Given the description of an element on the screen output the (x, y) to click on. 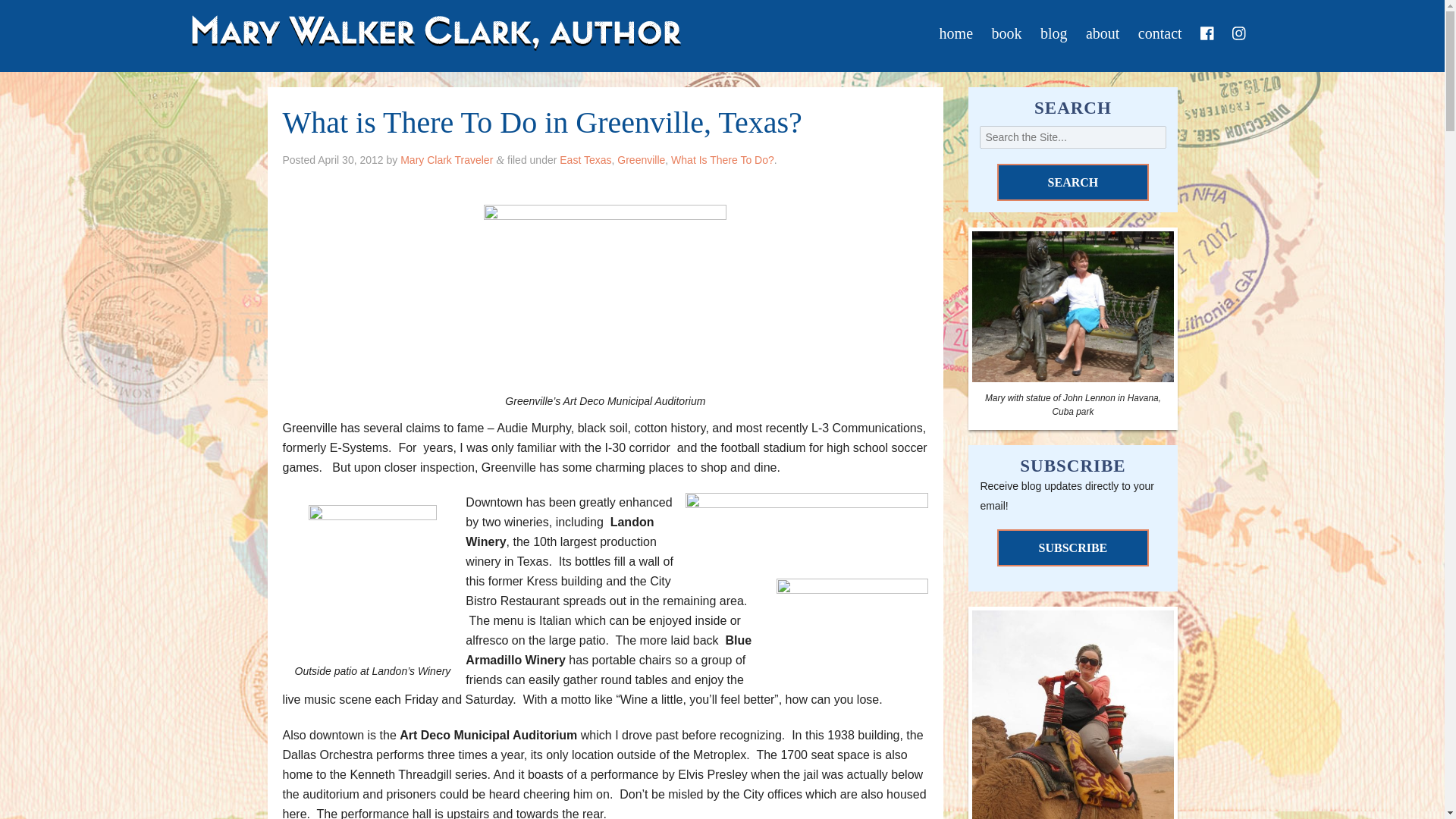
home (955, 33)
about (1102, 33)
What Is There To Do? (722, 159)
Posts by Mary Clark Traveler (446, 159)
Search (1072, 181)
contact (1160, 33)
Mary Clark Traveler (446, 159)
Search (1072, 181)
Greenville (641, 159)
SUBSCRIBE (1072, 547)
East Texas (585, 159)
blog (1053, 33)
book (1006, 33)
